Given the description of an element on the screen output the (x, y) to click on. 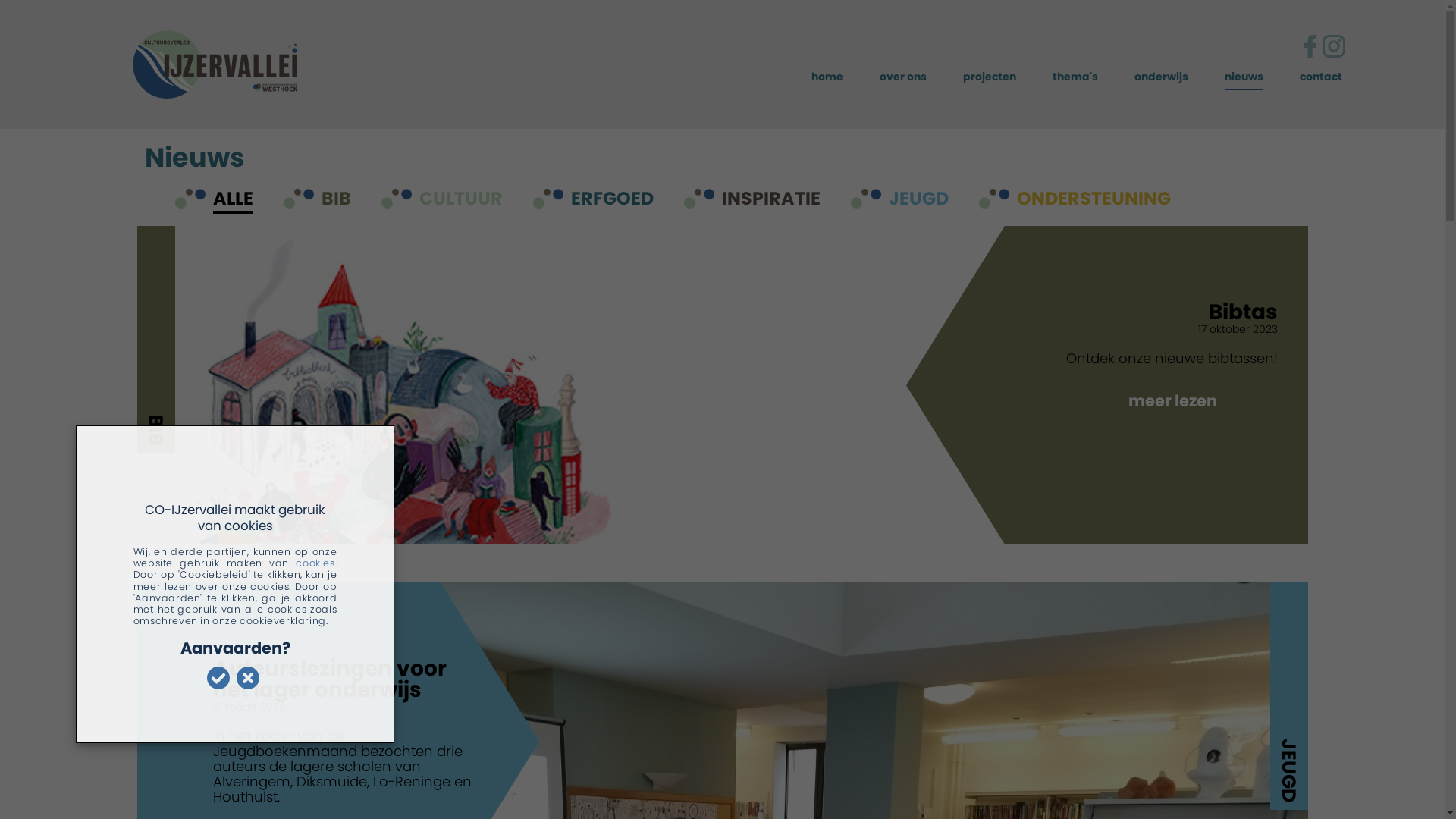
onderwijs Element type: text (1161, 77)
meer lezen Element type: text (1172, 400)
Auteurslezingen voor het lager onderwijs Element type: text (348, 679)
projecten Element type: text (989, 77)
Cultuuroverleg IJzervallei Element type: hover (154, 65)
Bibtas Element type: text (1140, 312)
nieuws Element type: text (1243, 77)
JEUGD Element type: text (918, 199)
home Element type: text (827, 77)
ONDERSTEUNING Element type: text (1093, 199)
INSPIRATIE Element type: text (770, 199)
over ons Element type: text (902, 77)
cookies Element type: text (314, 562)
BIB Element type: text (336, 199)
CULTUUR Element type: text (460, 199)
thema's Element type: text (1075, 77)
ALLE Element type: text (232, 199)
ERFGOED Element type: text (611, 199)
contact Element type: text (1320, 77)
